Given the description of an element on the screen output the (x, y) to click on. 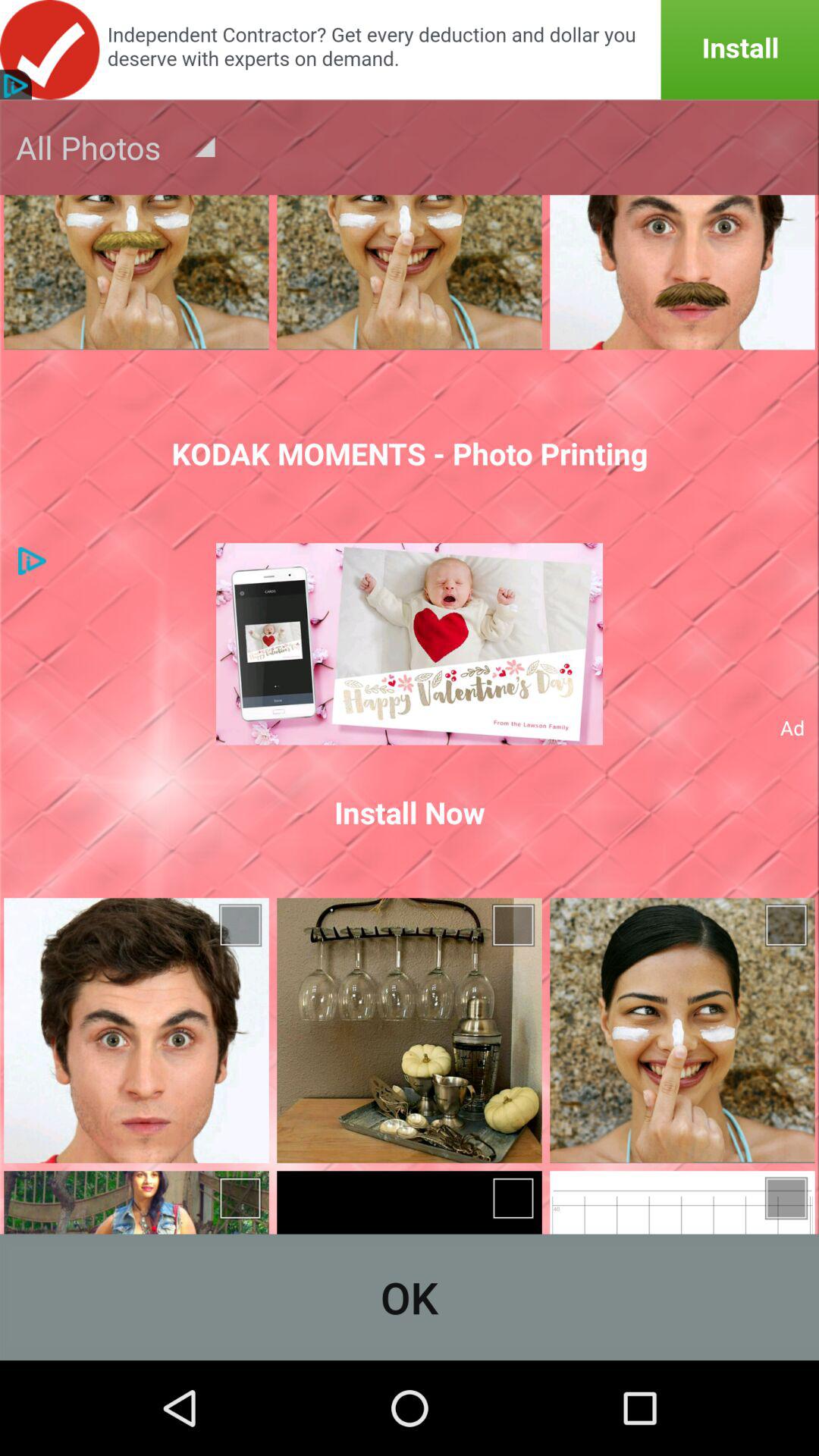
turn on install now (409, 812)
